Given the description of an element on the screen output the (x, y) to click on. 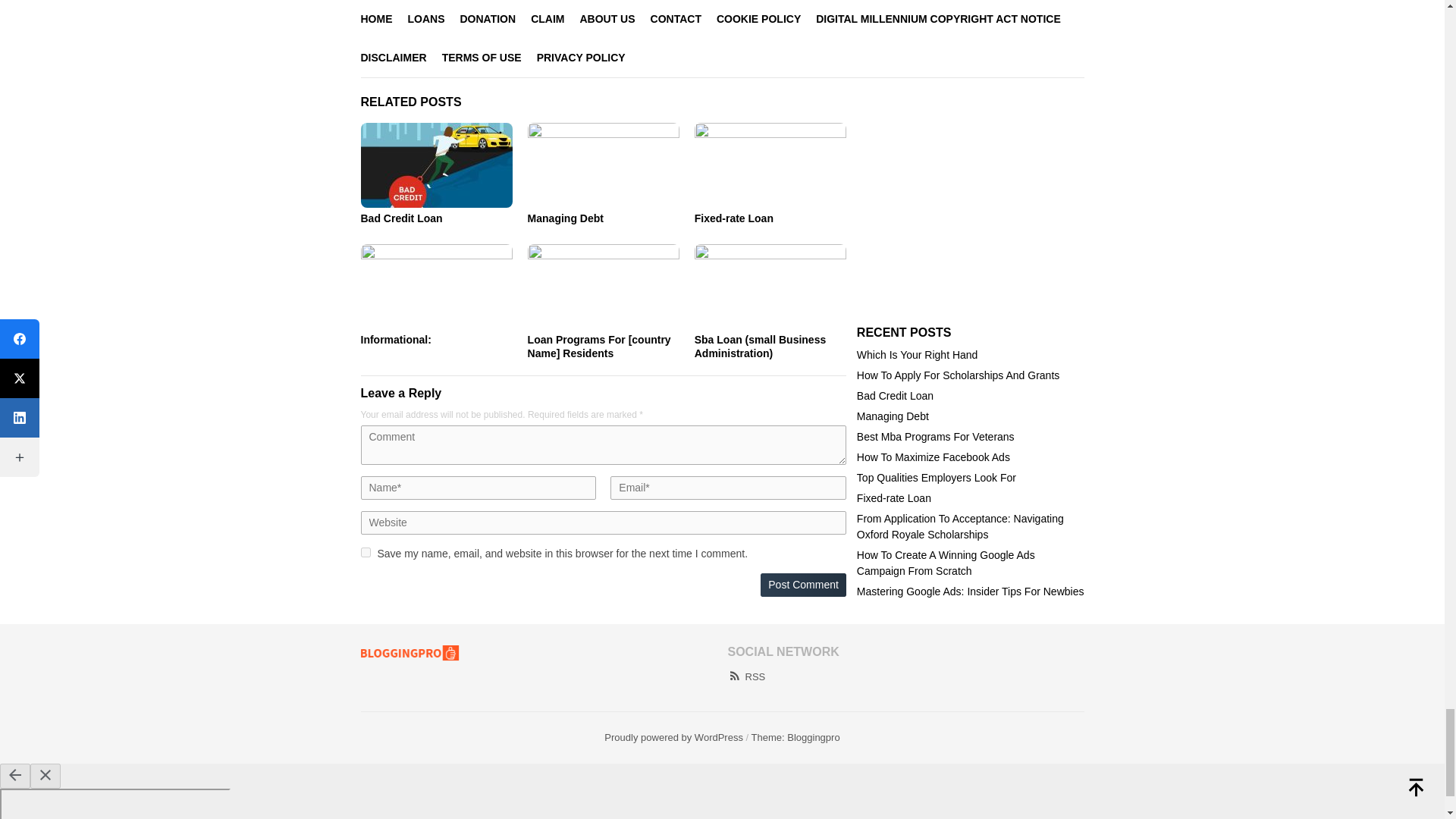
Post Comment (802, 585)
yes (366, 552)
